Given the description of an element on the screen output the (x, y) to click on. 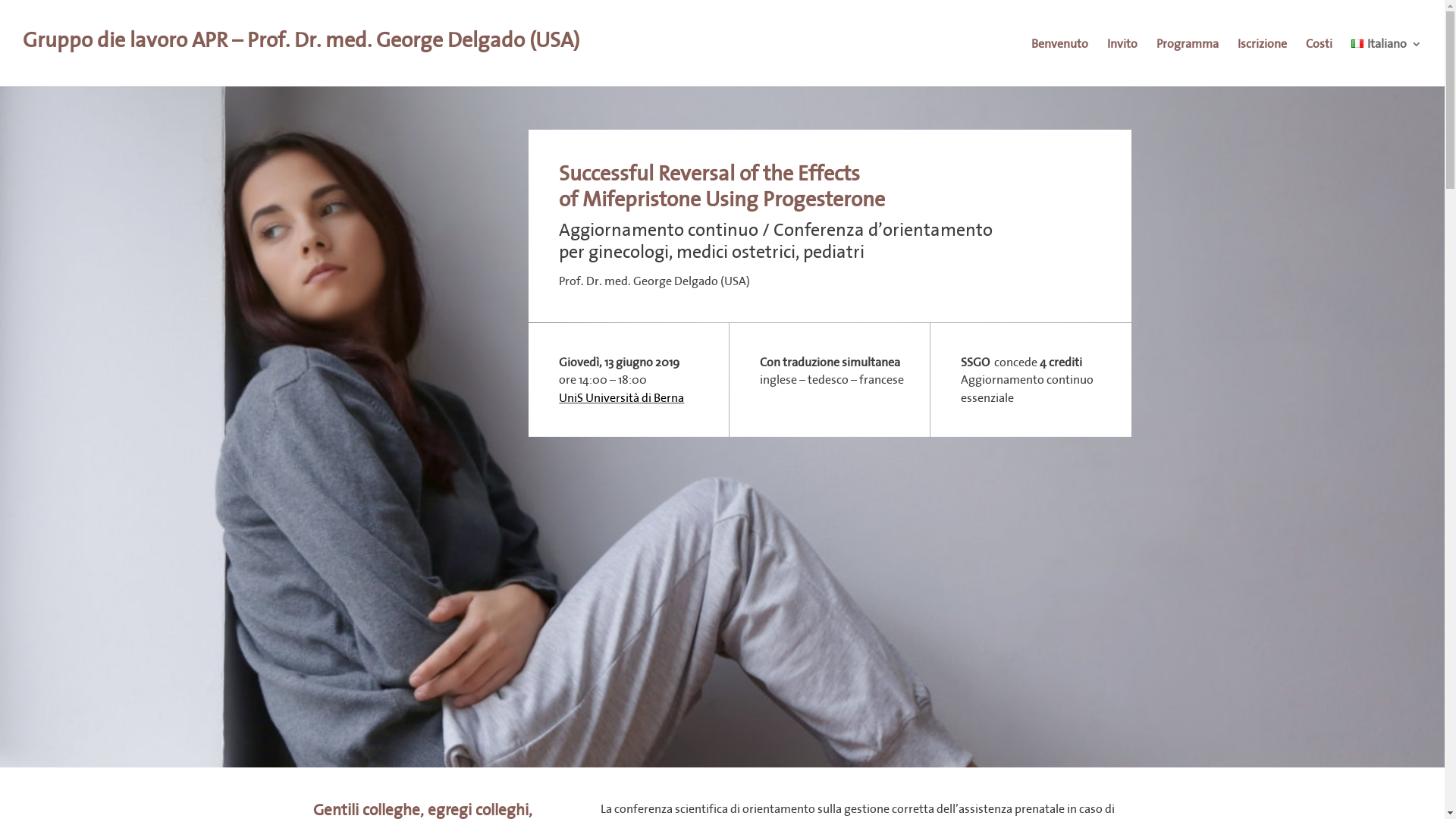
Invito Element type: text (1122, 56)
Iscrizione Element type: text (1261, 56)
Costi Element type: text (1318, 56)
Benvenuto Element type: text (1059, 56)
Programma Element type: text (1187, 56)
Italiano Element type: text (1386, 56)
Italiano Element type: hover (1357, 43)
